Given the description of an element on the screen output the (x, y) to click on. 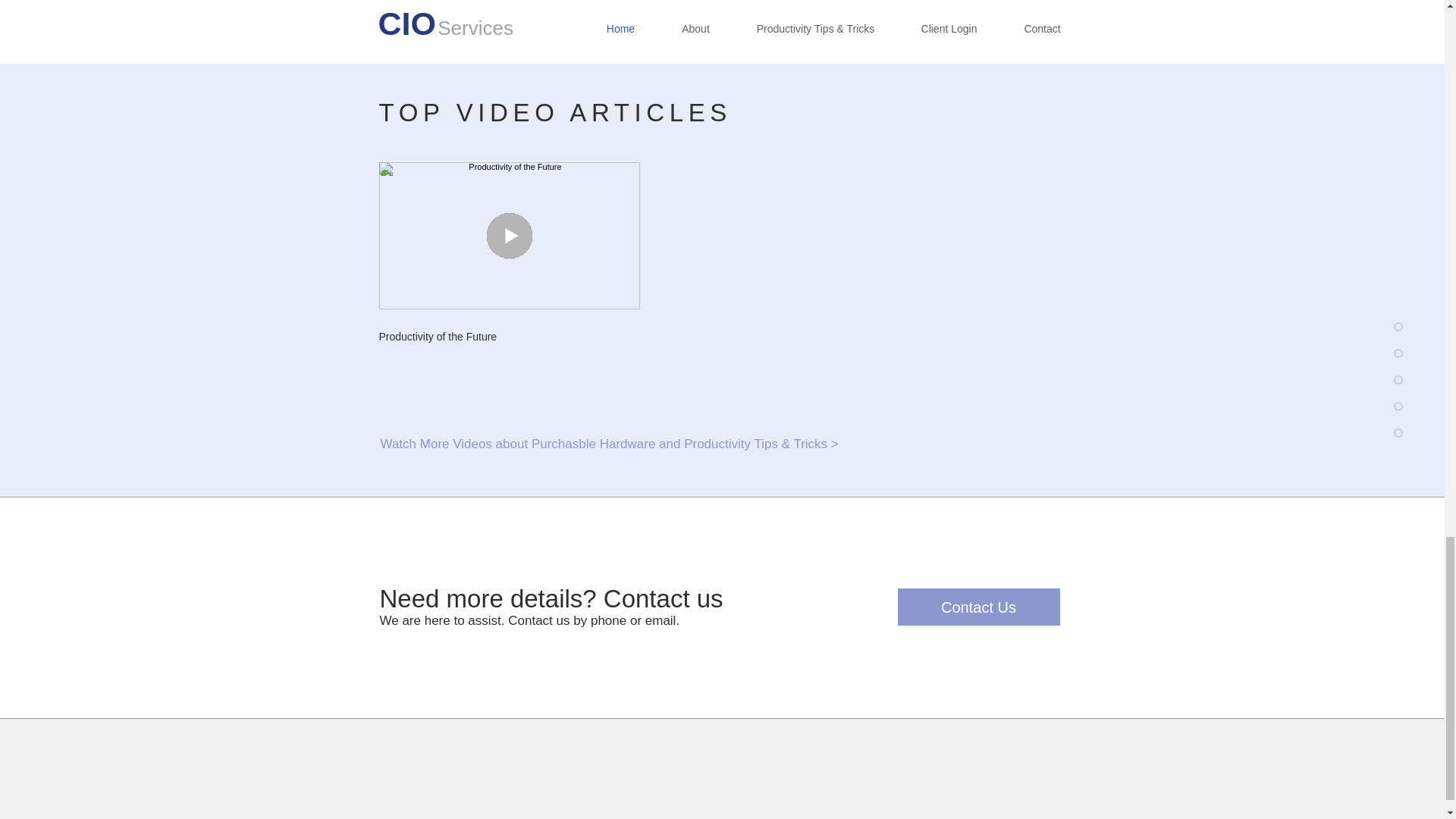
Productivity of the Future (509, 336)
Contact Us (978, 606)
